Given the description of an element on the screen output the (x, y) to click on. 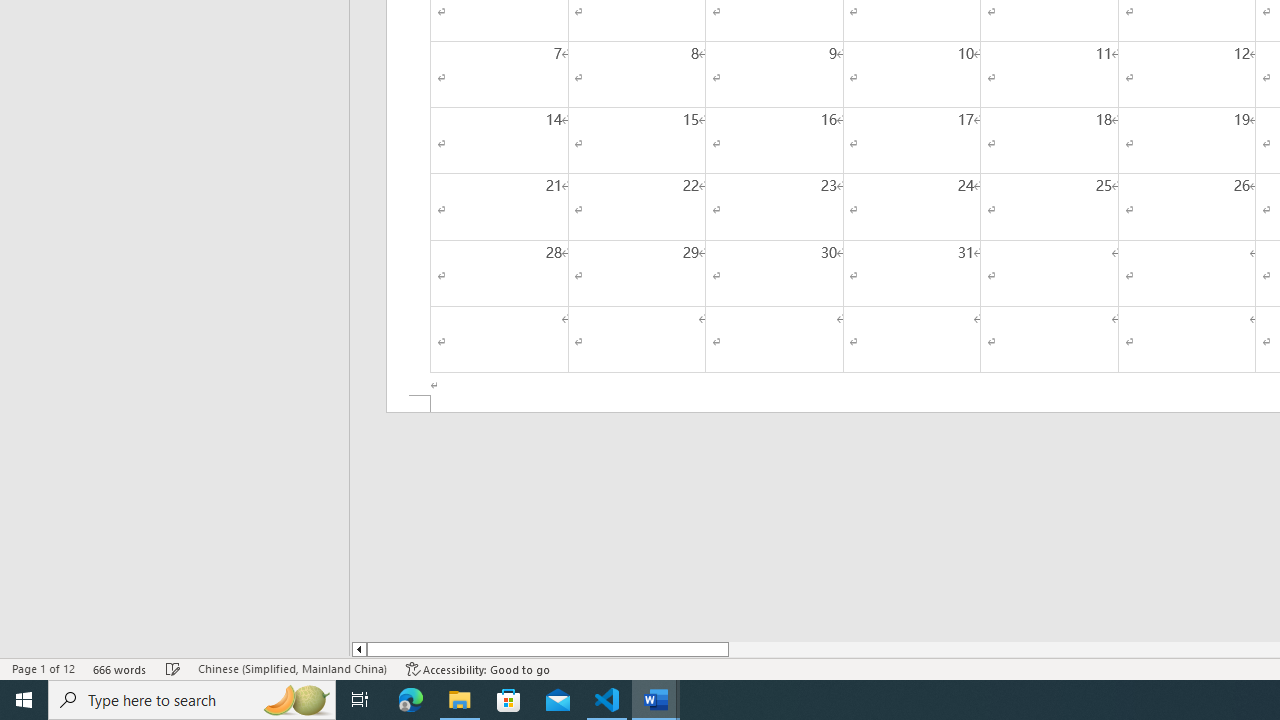
Column left (358, 649)
Page Number Page 1 of 12 (43, 668)
